Given the description of an element on the screen output the (x, y) to click on. 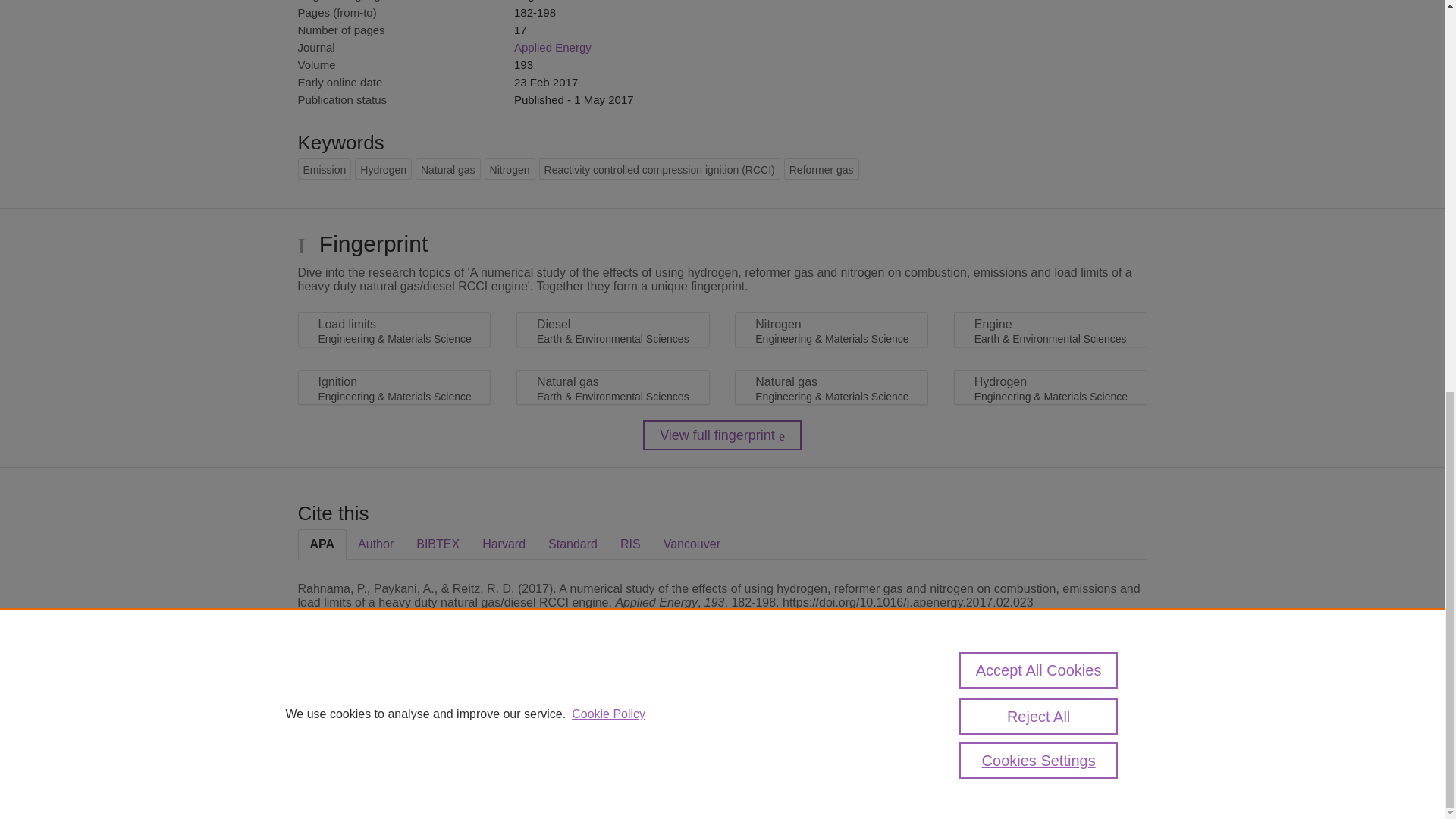
About web accessibility (1020, 713)
Applied Energy (552, 47)
View full fingerprint (722, 435)
Cookies Settings (334, 781)
Elsevier B.V. (506, 728)
Report vulnerability (1020, 745)
use of cookies (796, 760)
Contact us (1122, 713)
Pure (362, 708)
Scopus (394, 708)
